Given the description of an element on the screen output the (x, y) to click on. 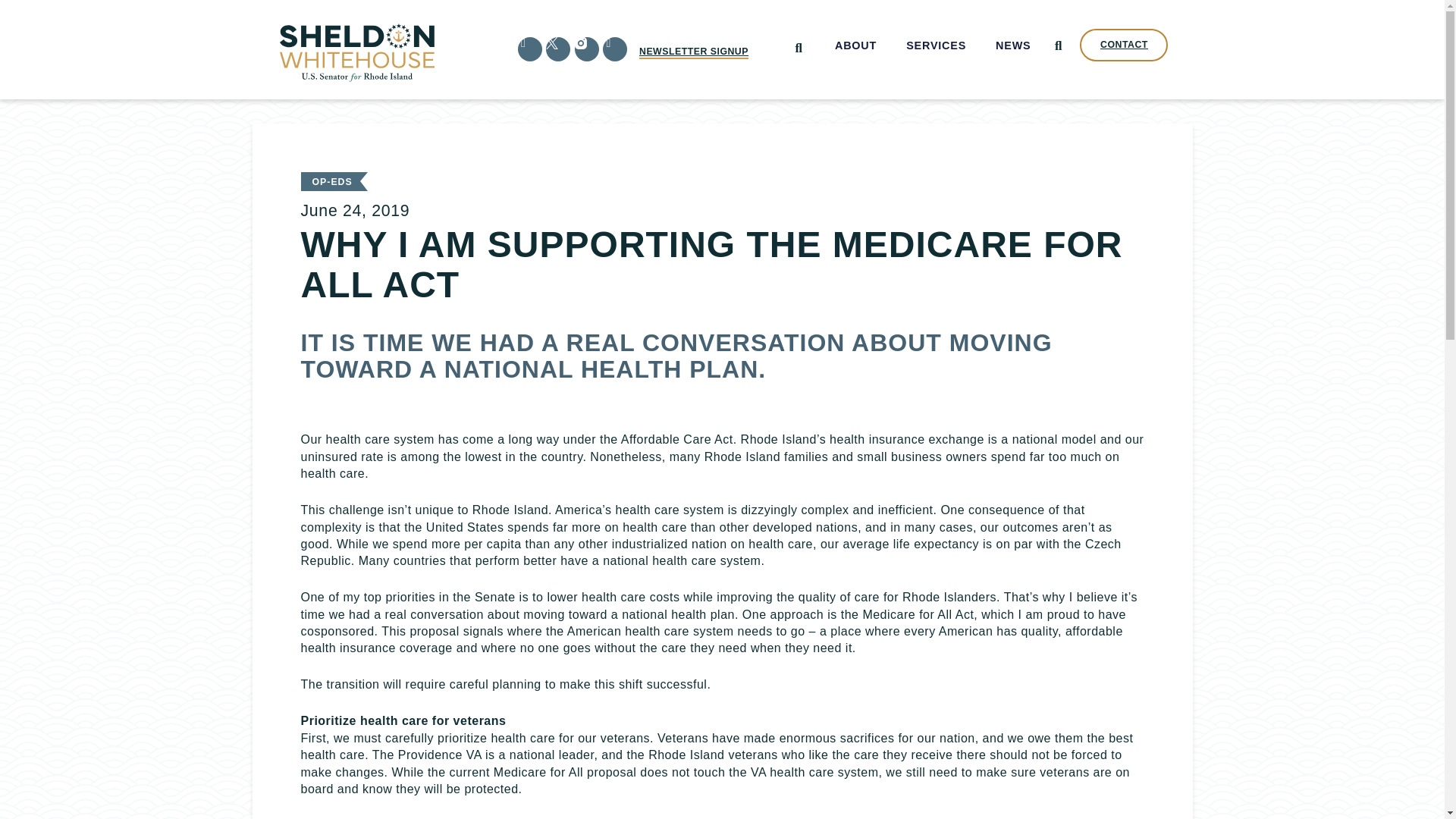
SERVICES (936, 46)
CONTACT (1123, 44)
NEWSLETTER SIGNUP (693, 51)
NEWS (1013, 46)
ABOUT (855, 46)
